Given the description of an element on the screen output the (x, y) to click on. 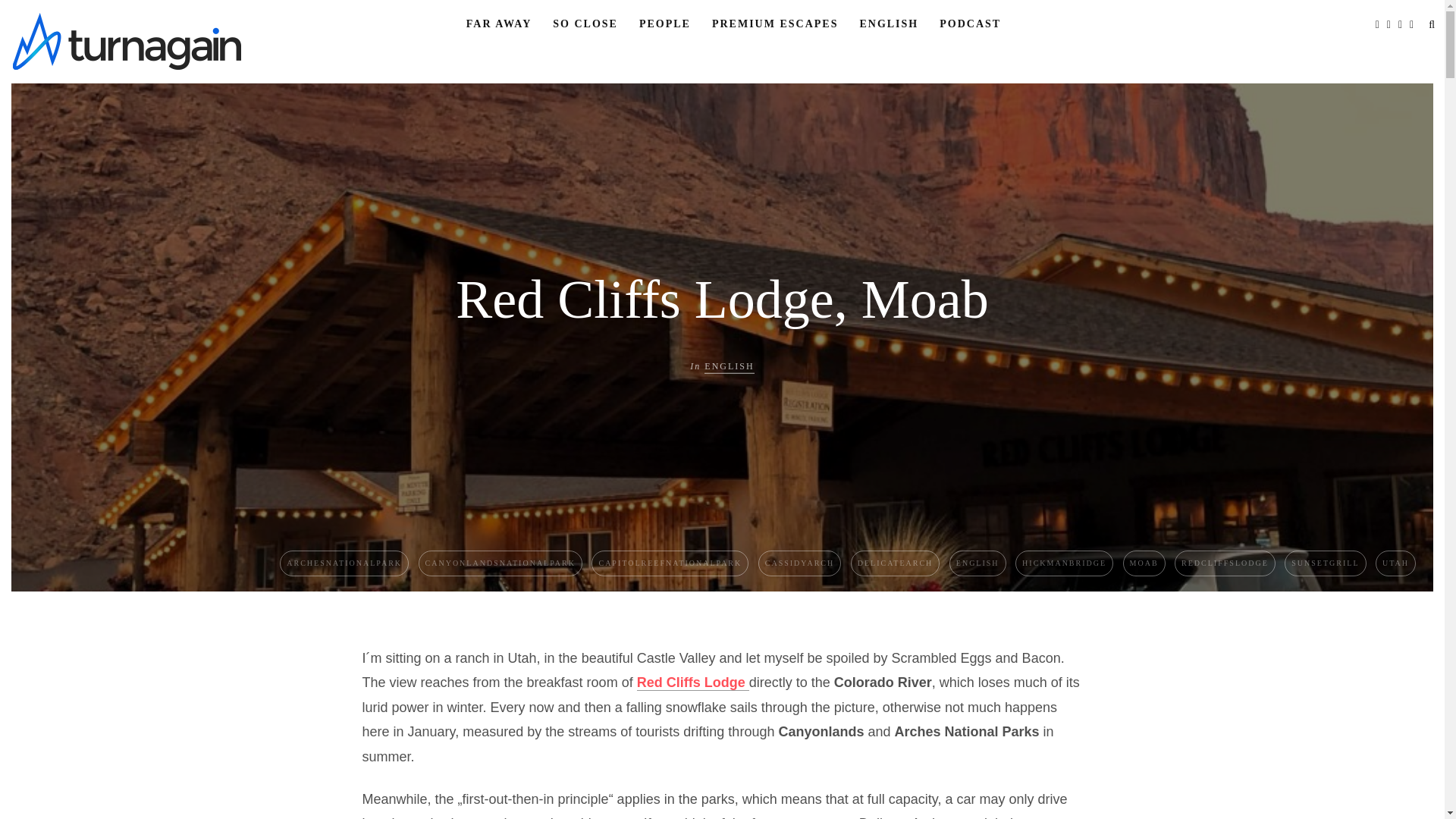
FAR AWAY (498, 24)
SO CLOSE (585, 24)
SUNSETGRILL (1324, 563)
DELICATEARCH (895, 563)
HICKMANBRIDGE (1063, 563)
CASSIDYARCH (799, 563)
PEOPLE (664, 24)
ENGLISH (888, 24)
PREMIUM ESCAPES (774, 24)
CANYONLANDSNATIONALPARK (500, 563)
